Given the description of an element on the screen output the (x, y) to click on. 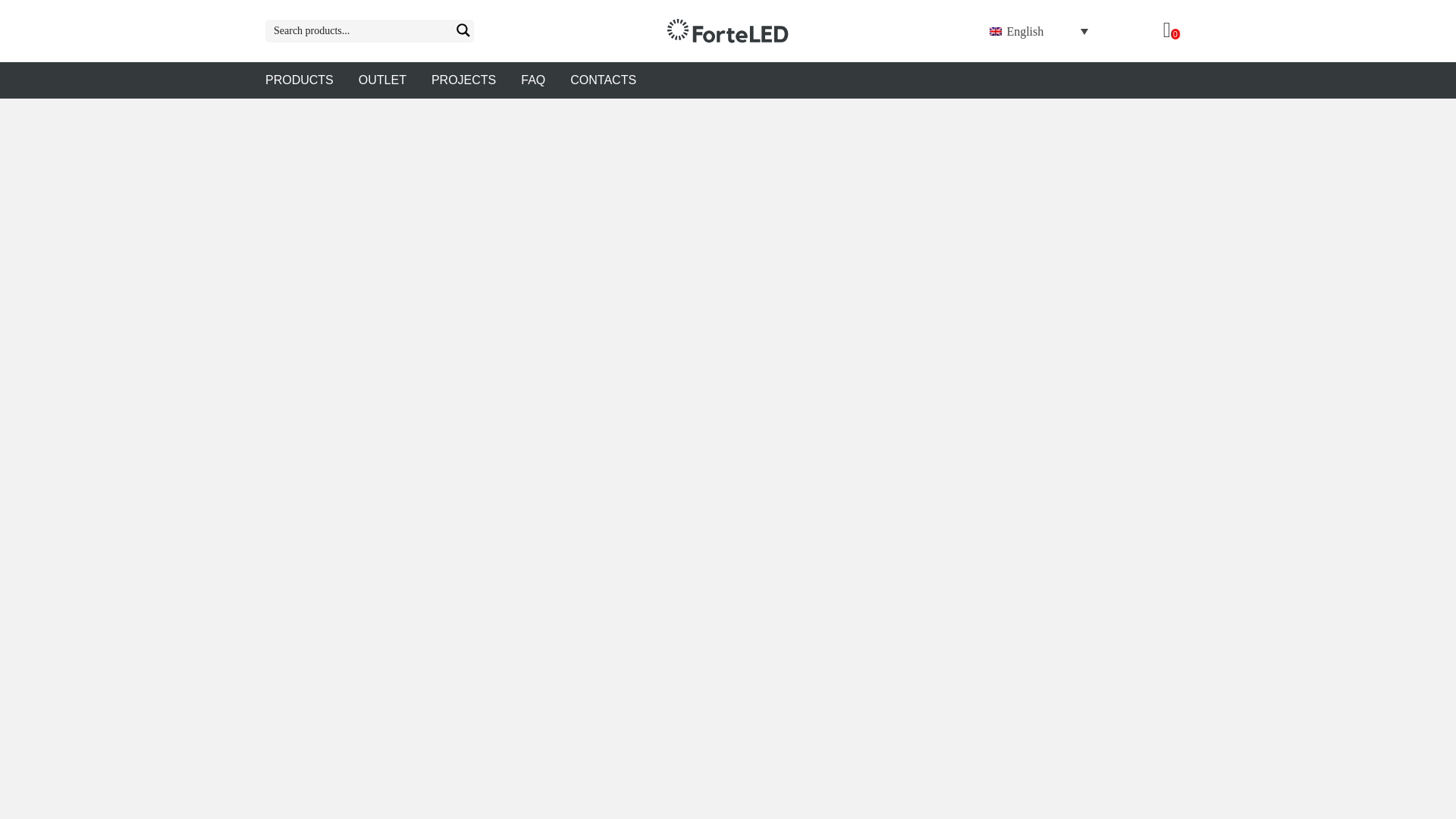
PRODUCTS (311, 80)
0 (1171, 32)
English (1038, 31)
